Given the description of an element on the screen output the (x, y) to click on. 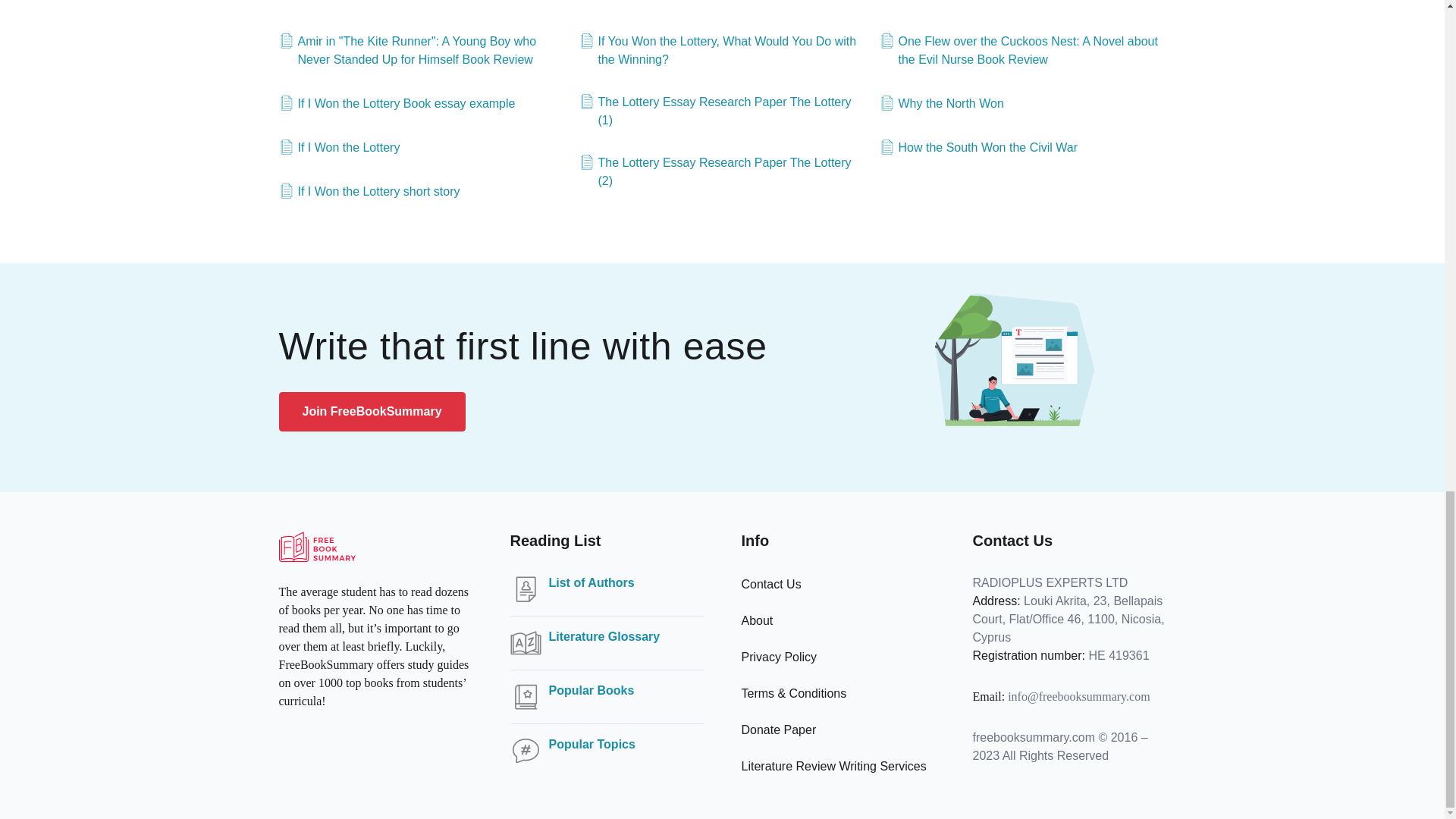
If You Won the Lottery, What Would You Do with the Winning? (722, 50)
Why the North Won (941, 104)
List of Authors (591, 583)
Contact Us (771, 584)
About (757, 620)
Popular Topics (591, 744)
If I Won the Lottery Book essay example (397, 104)
If I Won the Lottery (339, 147)
How the South Won the Civil War (978, 147)
If I Won the Lottery short story (369, 191)
Literature Glossary (604, 637)
Popular Books (591, 690)
